Given the description of an element on the screen output the (x, y) to click on. 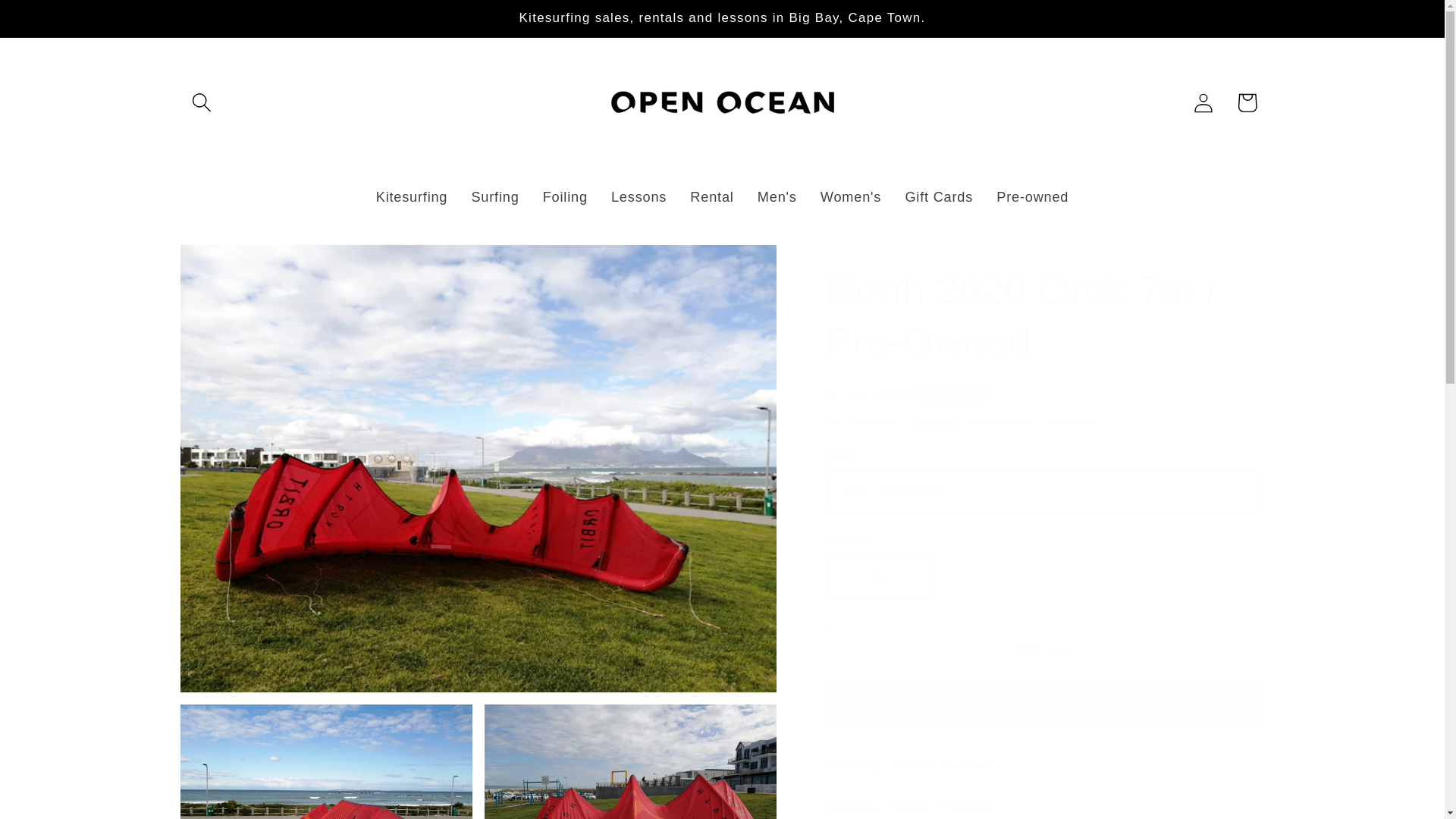
Men's (776, 197)
Pre-owned (1032, 197)
Log in (1202, 102)
Gift Cards (939, 197)
Skip to content (59, 22)
Surfing (495, 197)
Open media 3 in modal (630, 761)
Women's (850, 197)
Open media 2 in modal (325, 761)
1 (879, 577)
Lessons (638, 197)
Cart (1246, 102)
Rental (711, 197)
Foiling (564, 197)
